Given the description of an element on the screen output the (x, y) to click on. 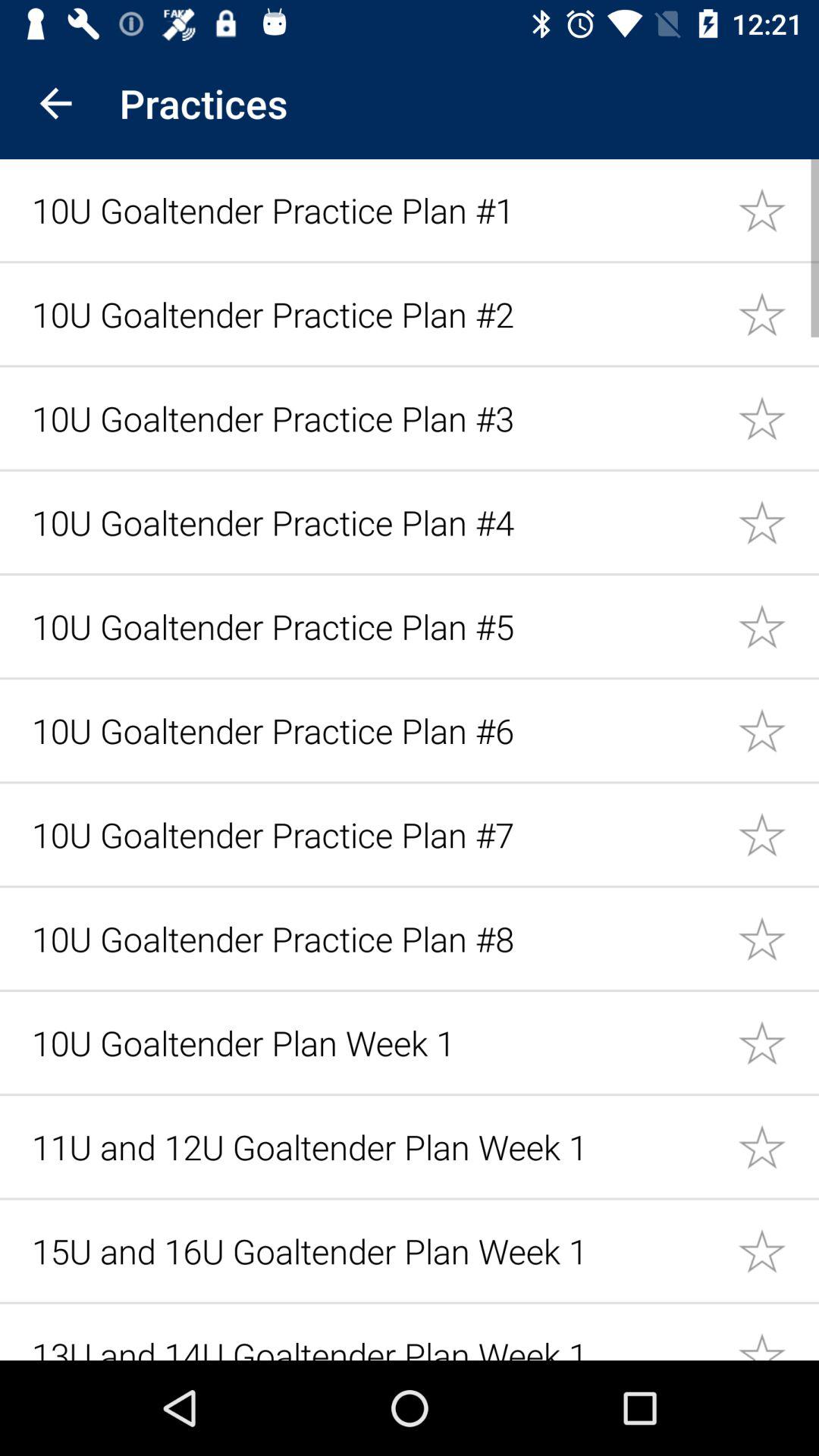
set favorite to 1ou goaltender practic plan 8 (778, 938)
